Given the description of an element on the screen output the (x, y) to click on. 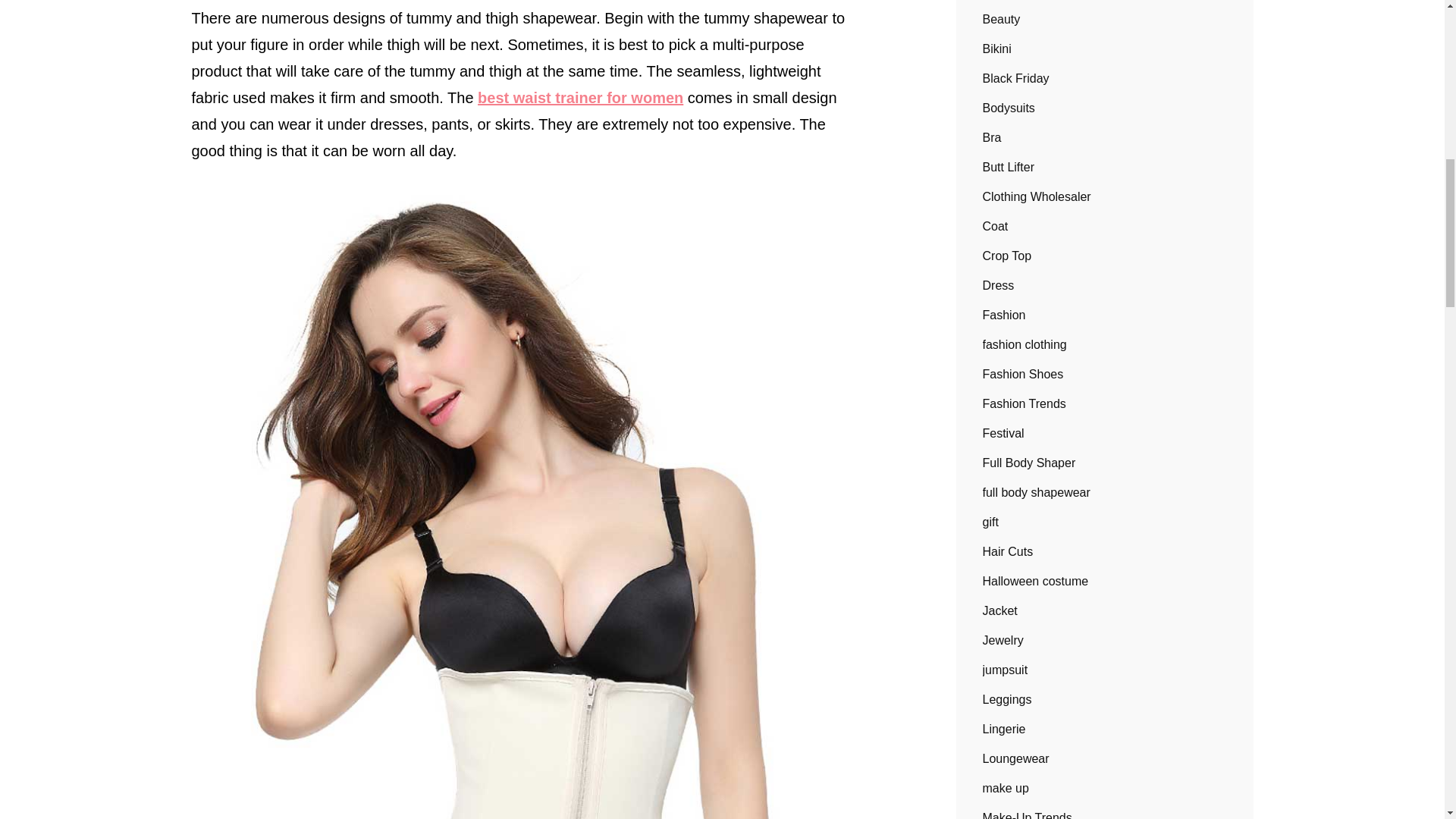
Bags (996, 1)
Clothing Wholesaler (1036, 197)
Dress (998, 285)
Bikini (996, 48)
Butt Lifter (1007, 167)
best waist trainer for women (579, 97)
Bodysuits (1008, 108)
Coat (995, 226)
Black Friday (1015, 78)
Crop Top (1007, 256)
Beauty (1001, 19)
